Given the description of an element on the screen output the (x, y) to click on. 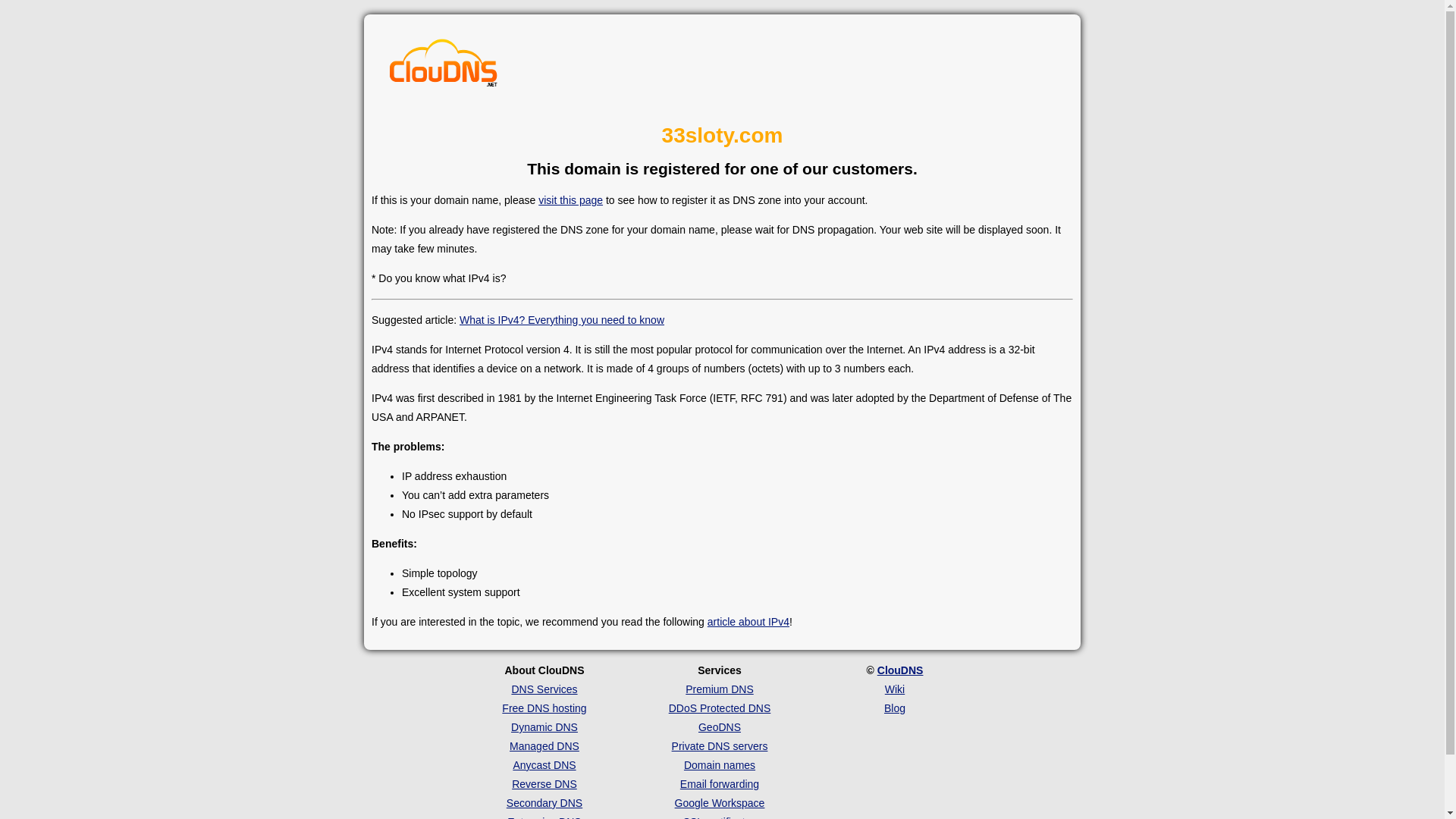
DDoS Protected DNS Element type: text (719, 708)
Email forwarding Element type: text (719, 784)
Wiki Element type: text (894, 689)
GeoDNS Element type: text (719, 727)
Free DNS hosting Element type: text (544, 708)
Domain names Element type: text (719, 765)
Dynamic DNS Element type: text (544, 727)
Google Workspace Element type: text (719, 803)
Private DNS servers Element type: text (719, 746)
Anycast DNS Element type: text (543, 765)
What is IPv4? Everything you need to know Element type: text (561, 319)
Reverse DNS Element type: text (544, 784)
ClouDNS Element type: text (900, 670)
Premium DNS Element type: text (719, 689)
Secondary DNS Element type: text (544, 803)
Cloud DNS Element type: hover (443, 66)
visit this page Element type: text (570, 200)
DNS Services Element type: text (544, 689)
Managed DNS Element type: text (544, 746)
Blog Element type: text (894, 708)
article about IPv4 Element type: text (748, 621)
